Given the description of an element on the screen output the (x, y) to click on. 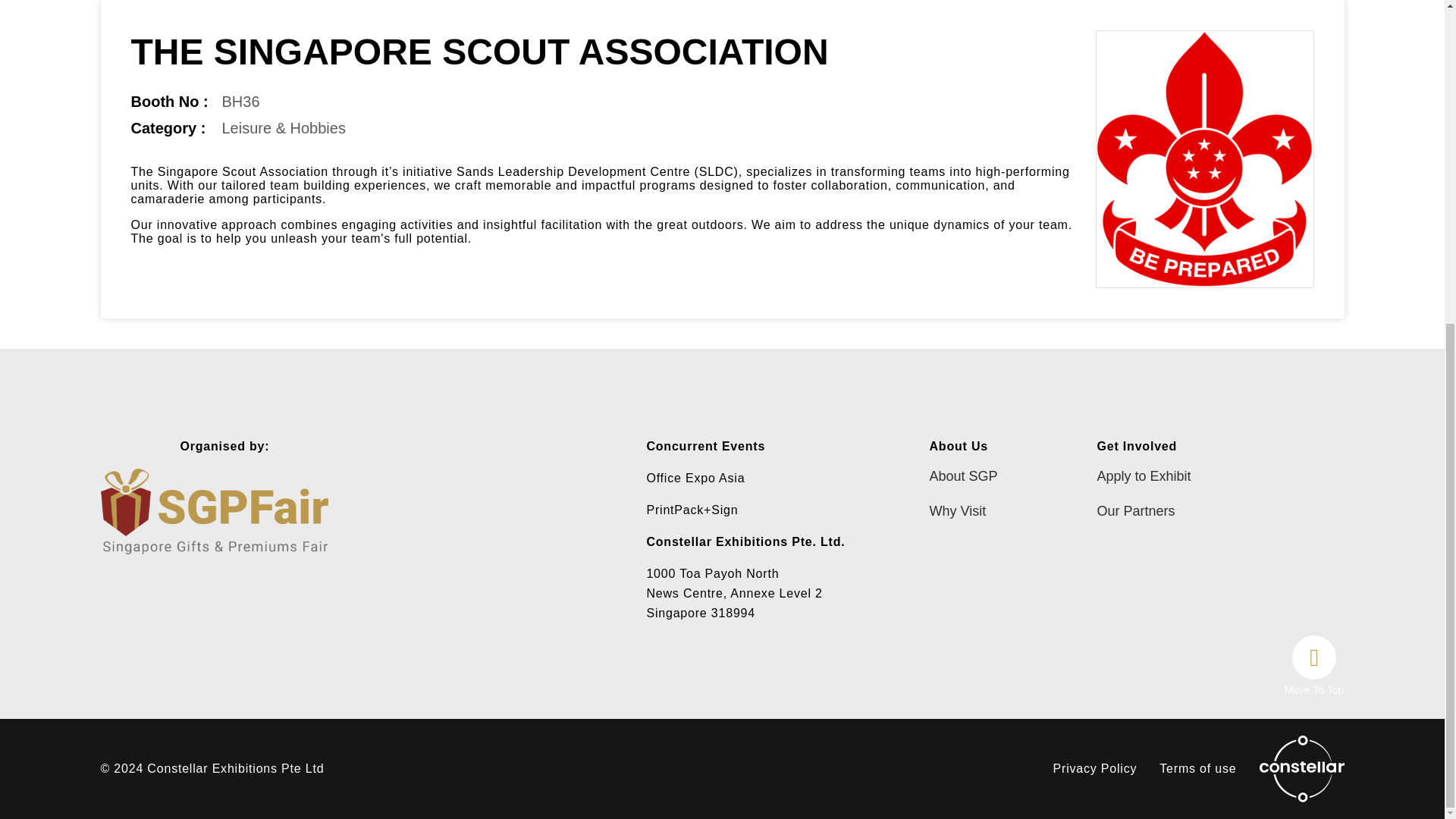
Office Expo Asia (695, 477)
Our Partners (1143, 511)
Why Visit (971, 511)
About SGP (971, 476)
Apply to Exhibit (1143, 476)
